Given the description of an element on the screen output the (x, y) to click on. 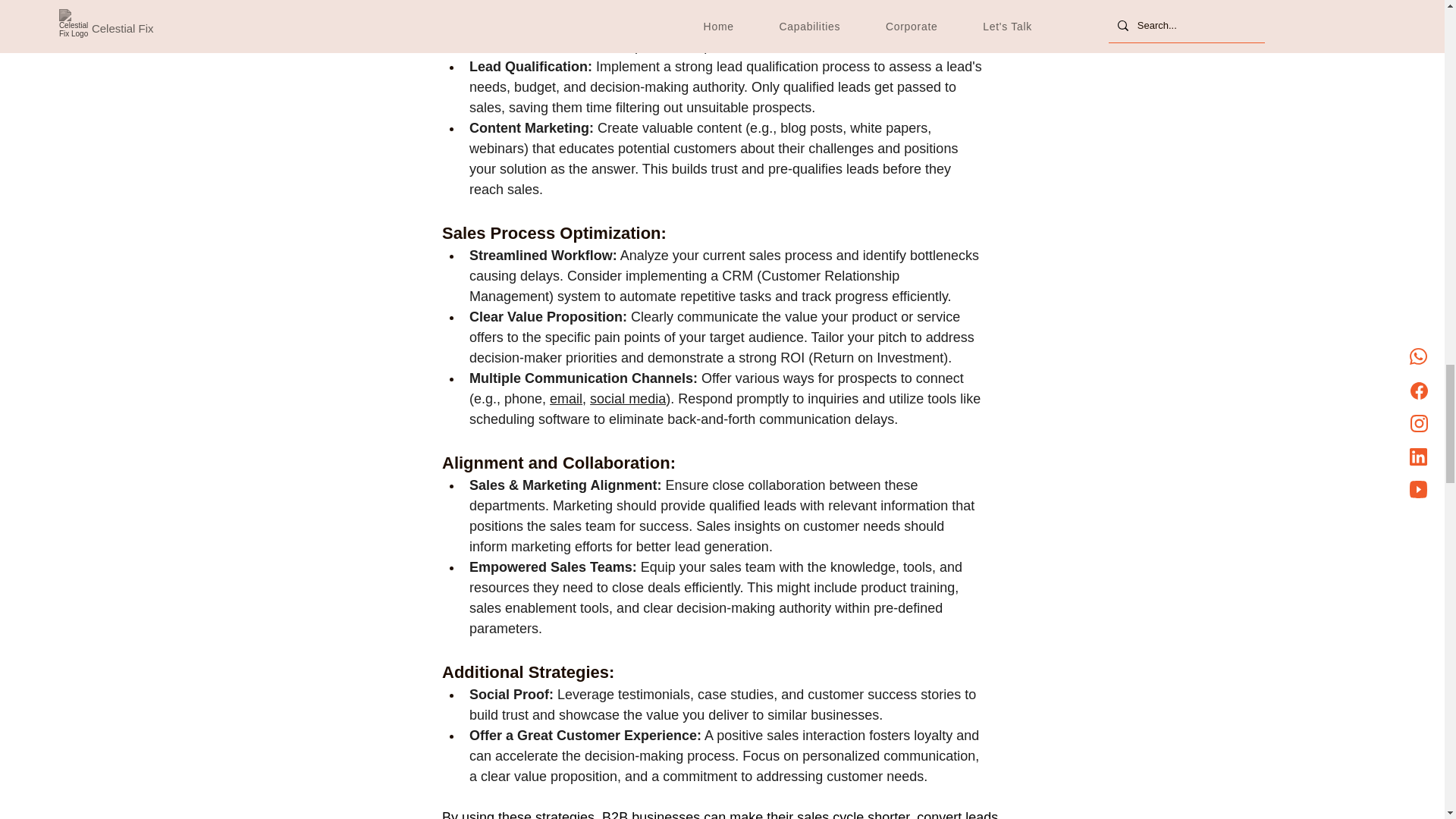
email (566, 398)
leads  (687, 25)
social media (627, 398)
